Given the description of an element on the screen output the (x, y) to click on. 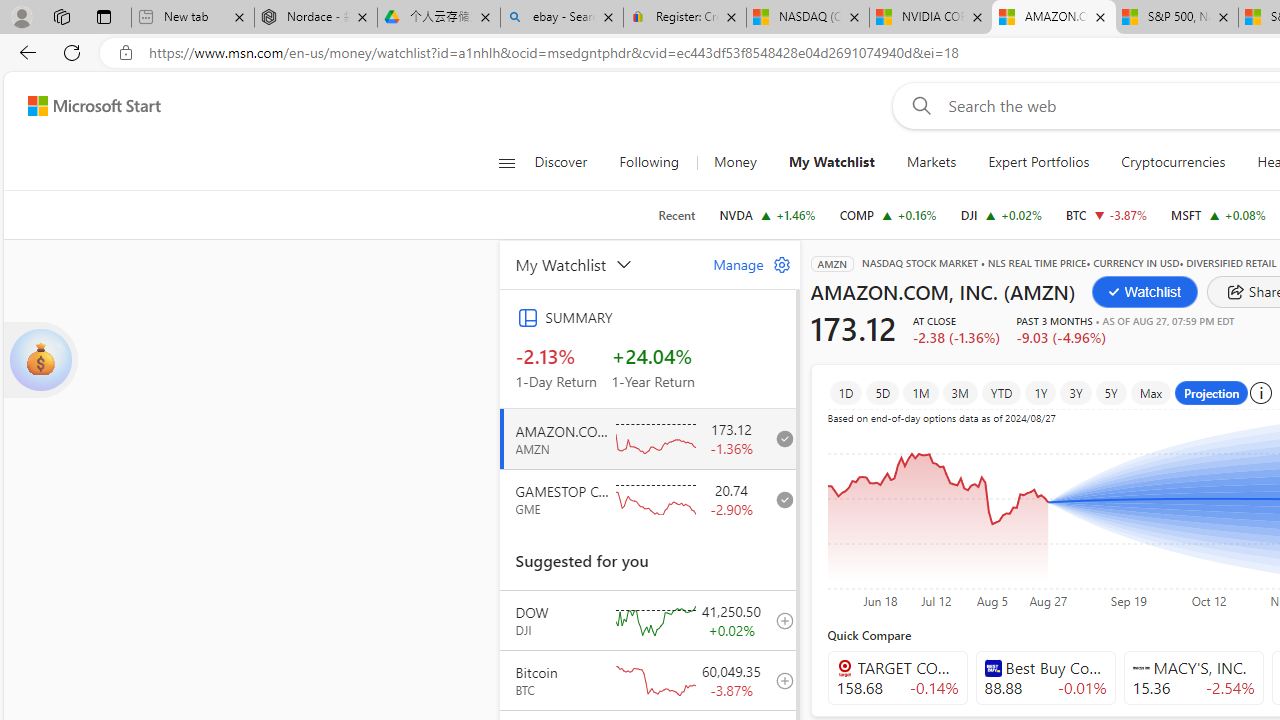
show card (40, 359)
1Y (1041, 392)
Skip to content (86, 105)
BTC Bitcoin decrease 60,049.35 -2,320.91 -3.87% (1106, 214)
5D (882, 392)
Following (649, 162)
NVDA NVIDIA CORPORATION increase 128.30 +1.84 +1.46% (767, 214)
MSFT MICROSOFT CORPORATION increase 413.84 +0.35 +0.08% (1217, 214)
Cryptocurrencies (1173, 162)
Web search (917, 105)
YTD (1000, 392)
